Given the description of an element on the screen output the (x, y) to click on. 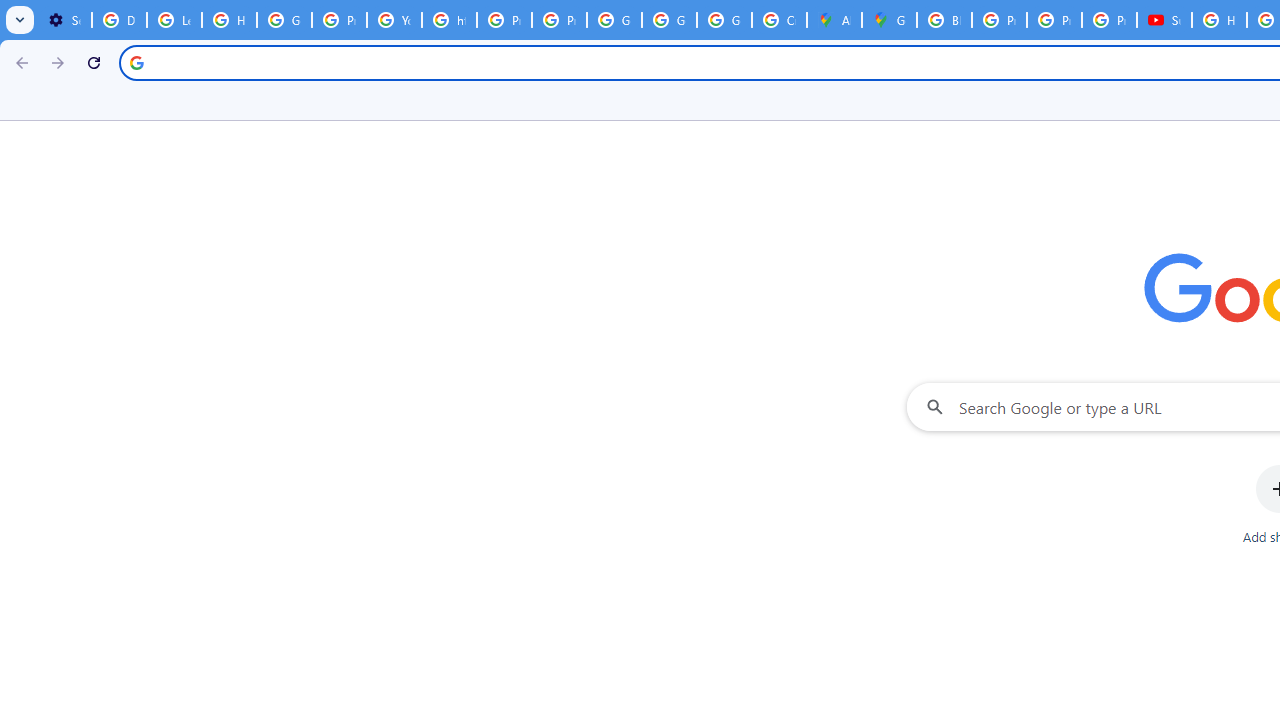
Create your Google Account (779, 20)
Privacy Help Center - Policies Help (1053, 20)
Blogger Policies and Guidelines - Transparency Center (943, 20)
Settings - Customize profile (64, 20)
Privacy Help Center - Policies Help (504, 20)
Learn how to find your photos - Google Photos Help (174, 20)
How Chrome protects your passwords - Google Chrome Help (1218, 20)
